Given the description of an element on the screen output the (x, y) to click on. 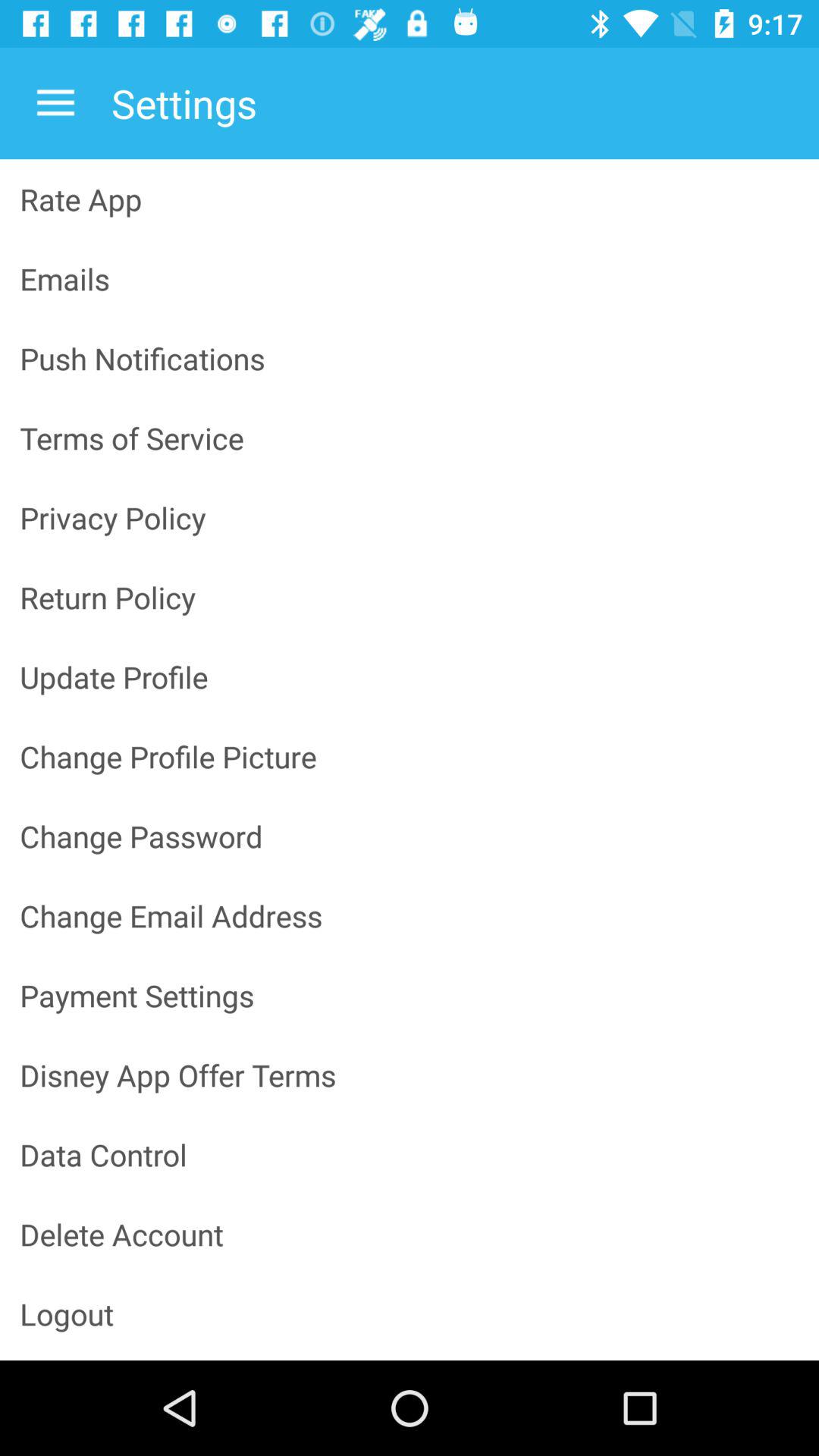
swipe until the change password (409, 836)
